Given the description of an element on the screen output the (x, y) to click on. 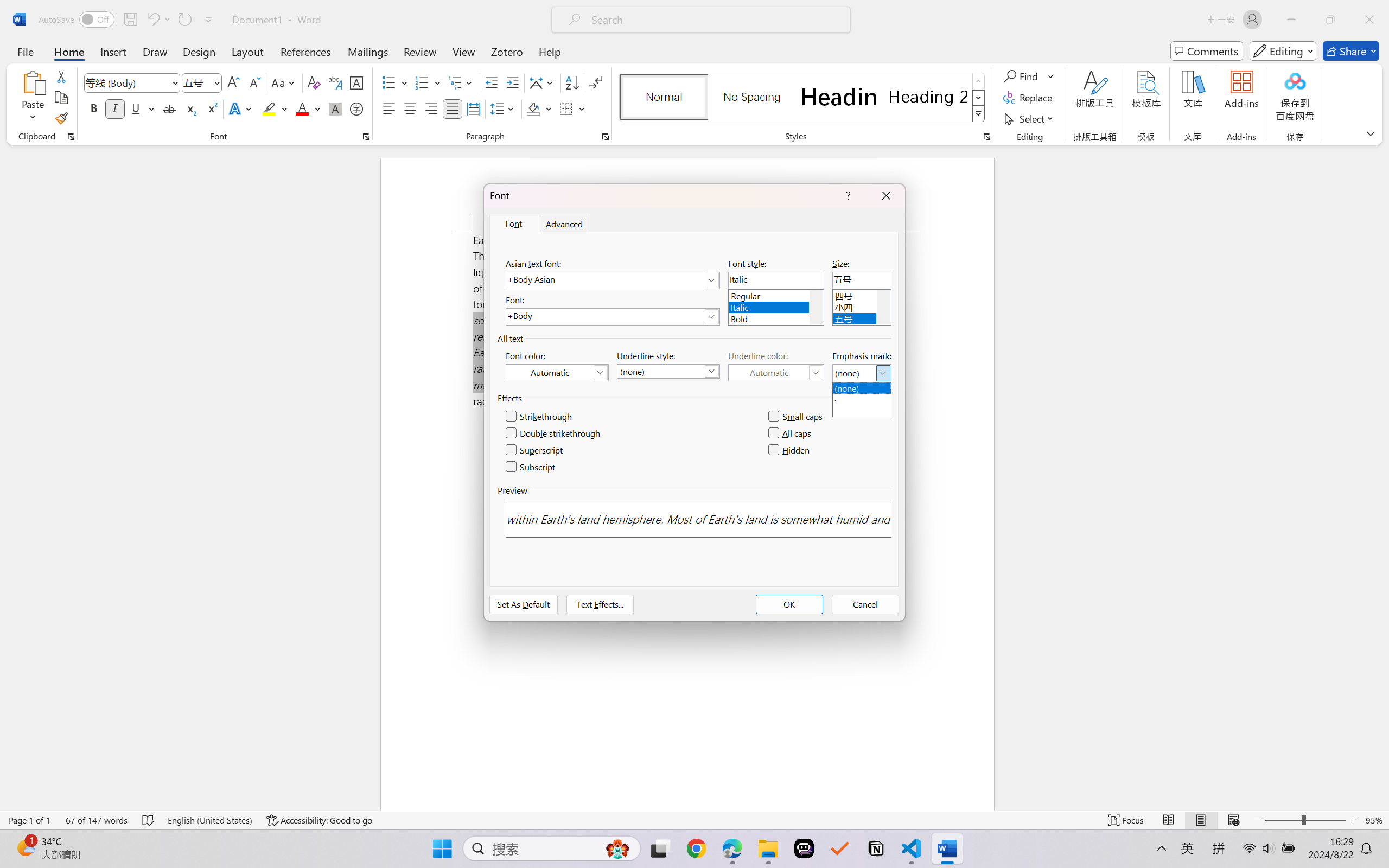
Row Down (978, 97)
Repeat Doc Close (184, 19)
Format Painter (60, 118)
Size: (861, 280)
Class: MsoCommandBar (694, 819)
Small caps (796, 416)
Font Color (308, 108)
